Given the description of an element on the screen output the (x, y) to click on. 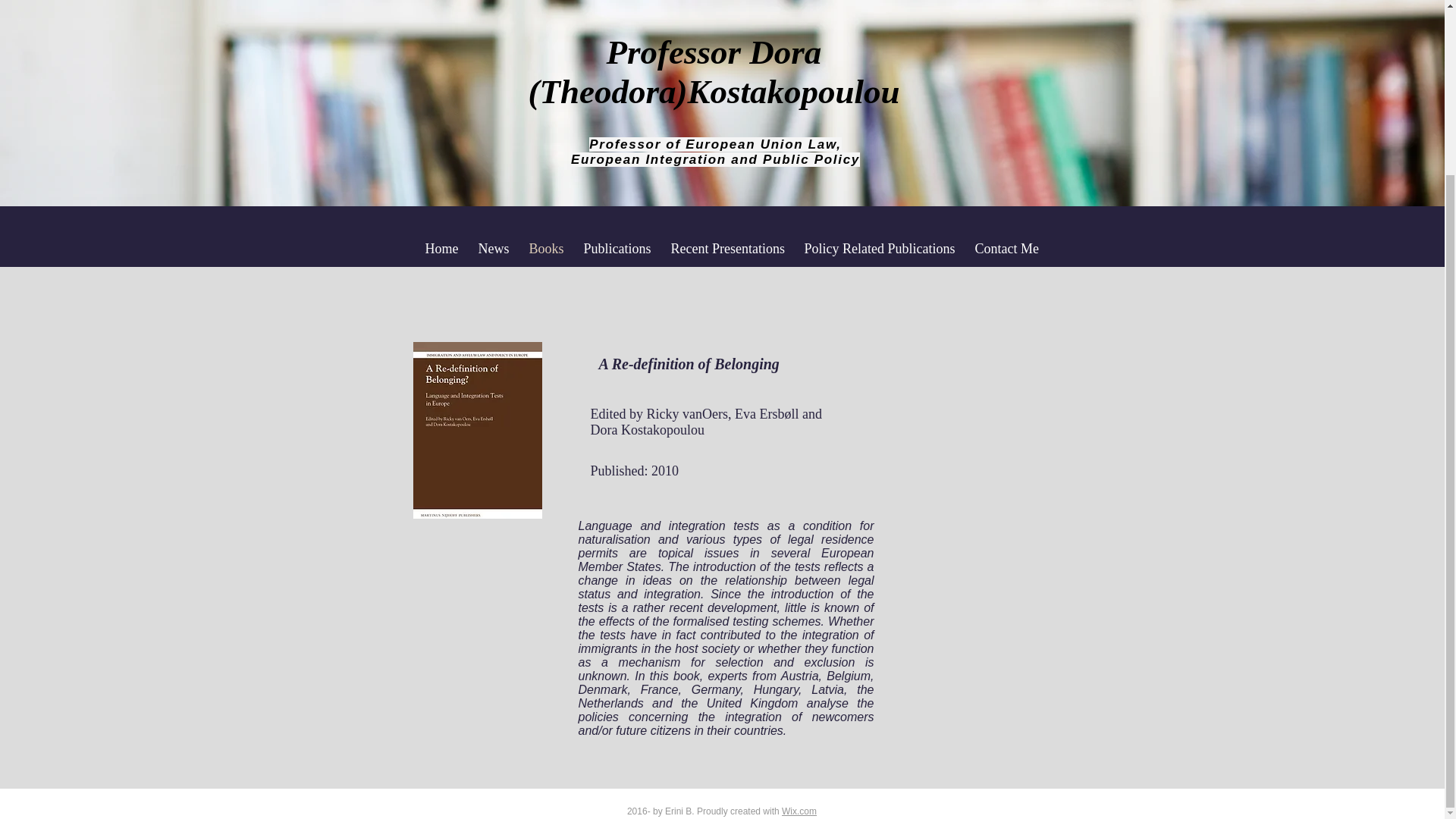
Publications (617, 248)
Wix.com (798, 810)
Home (441, 248)
Recent Presentations (727, 248)
Contact Me (1005, 248)
News (493, 248)
Books (545, 248)
Policy Related Publications (879, 248)
